Given the description of an element on the screen output the (x, y) to click on. 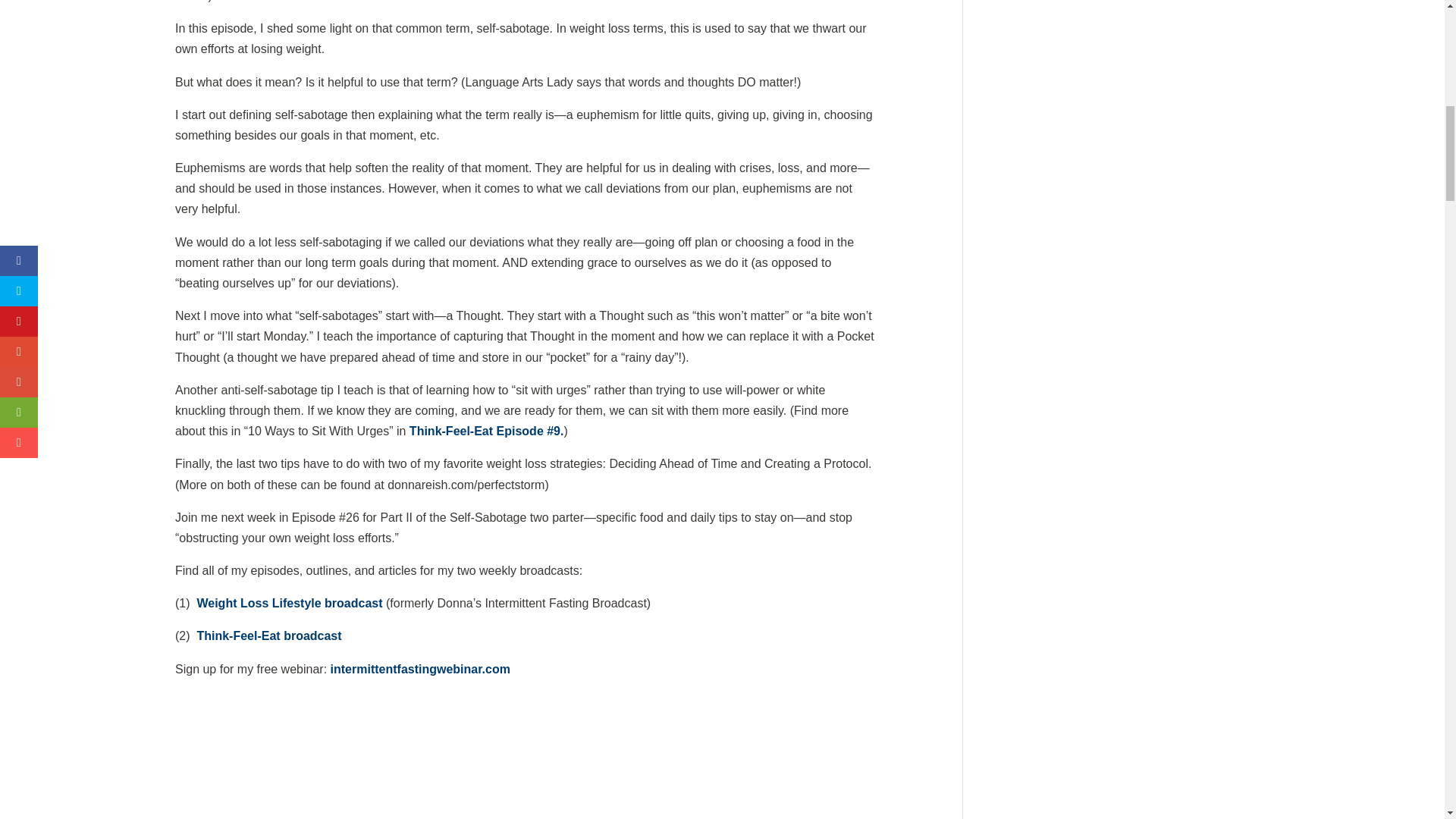
Weight Loss Lifestyle broadcast (290, 603)
get it on itunes (216, 770)
intermittentfastingwebinar.com (420, 668)
Think-Feel-Eat broadcast (267, 635)
